Given the description of an element on the screen output the (x, y) to click on. 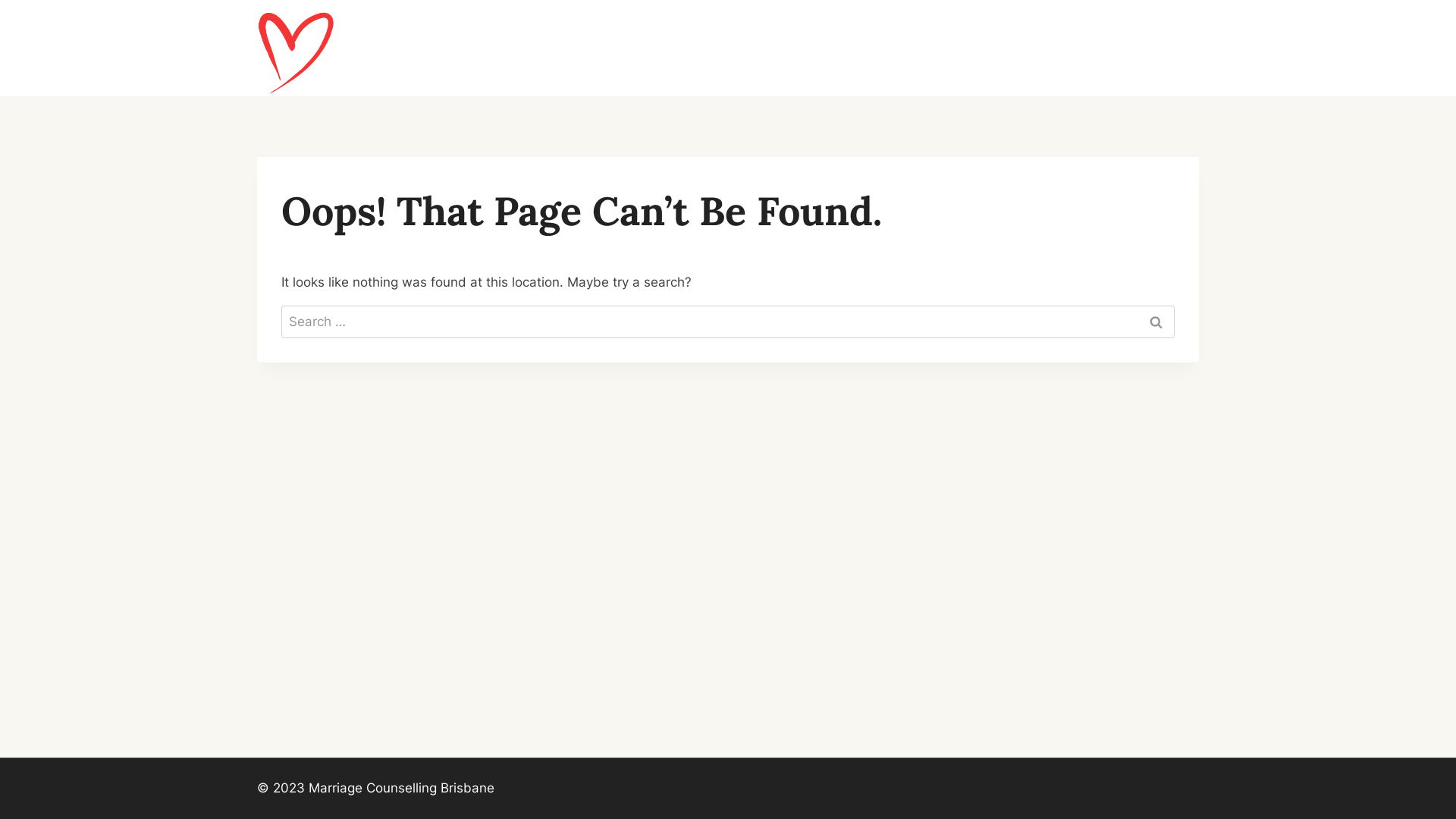
Home Element type: text (1089, 47)
Contact Us Element type: text (1157, 47)
Marriage Counselling Brisbane Element type: text (453, 48)
Search Element type: text (1155, 321)
